Given the description of an element on the screen output the (x, y) to click on. 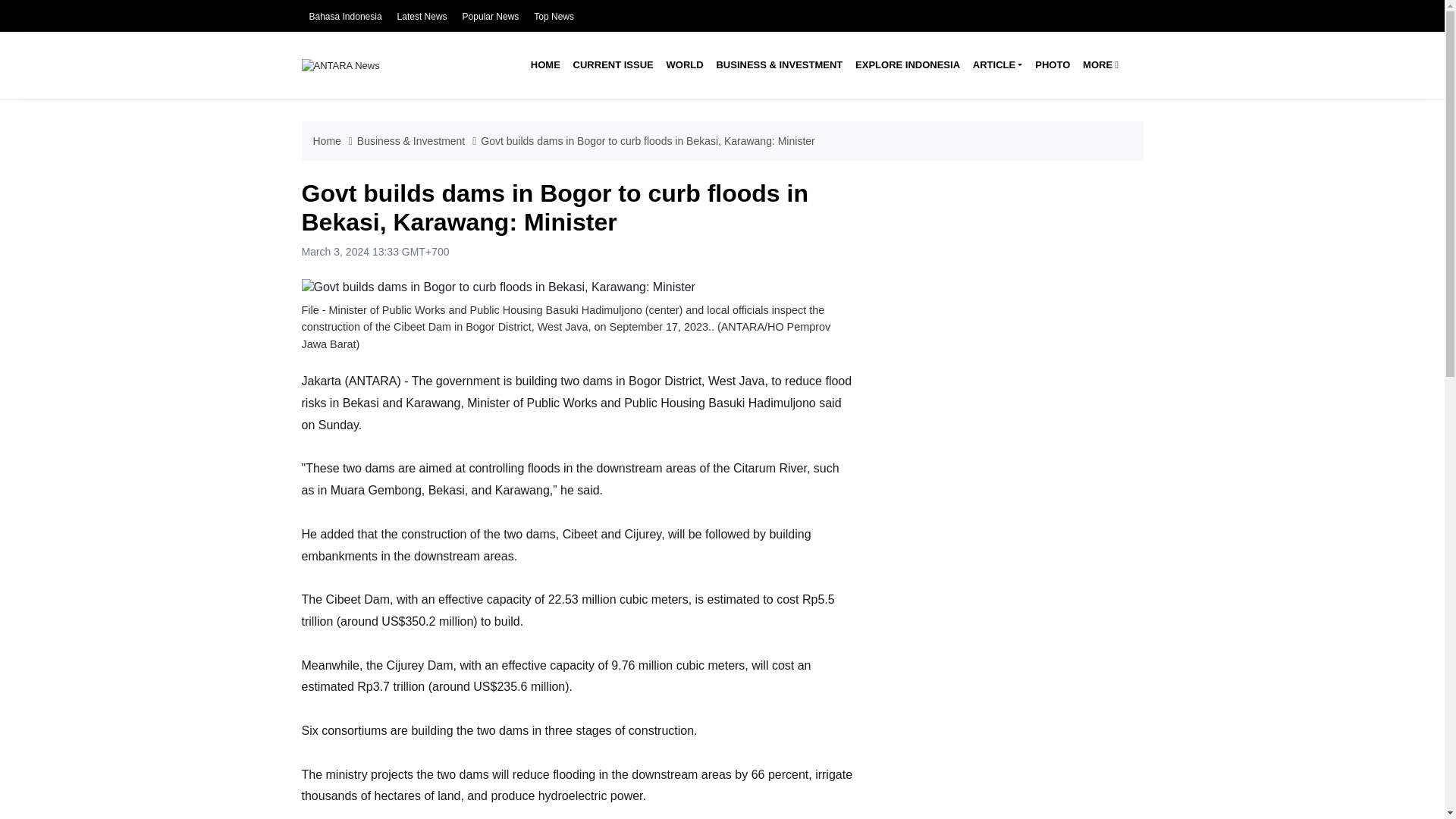
Popular News (491, 16)
Current Issue (612, 64)
HOME (545, 64)
Bahasa Indonesia (344, 16)
WORLD (684, 64)
PHOTO (1053, 64)
Photo (1053, 64)
Latest News (421, 16)
Top News (553, 16)
Popular News (491, 16)
ARTICLE (996, 64)
Bahasa Indonesia (344, 16)
EXPLORE INDONESIA (907, 64)
Article (996, 64)
Top News (553, 16)
